Given the description of an element on the screen output the (x, y) to click on. 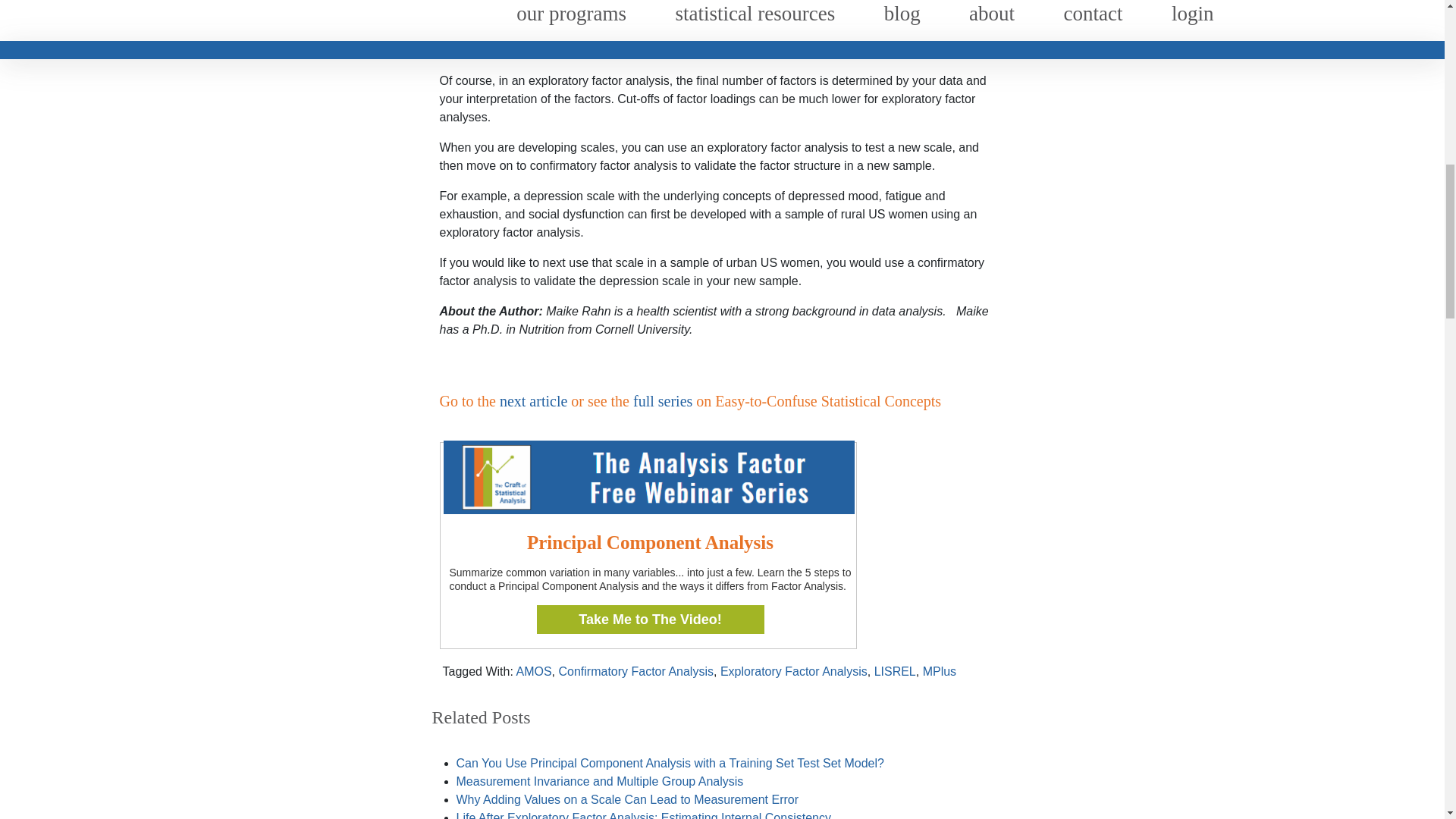
MPlus (939, 671)
Take Me to The Video! (650, 619)
AMOS (533, 671)
Measurement Invariance and Multiple Group Analysis (600, 780)
Take Me to The Video! (650, 619)
LISREL (895, 671)
next article (533, 401)
Confirmatory Factor Analysis (635, 671)
